Given the description of an element on the screen output the (x, y) to click on. 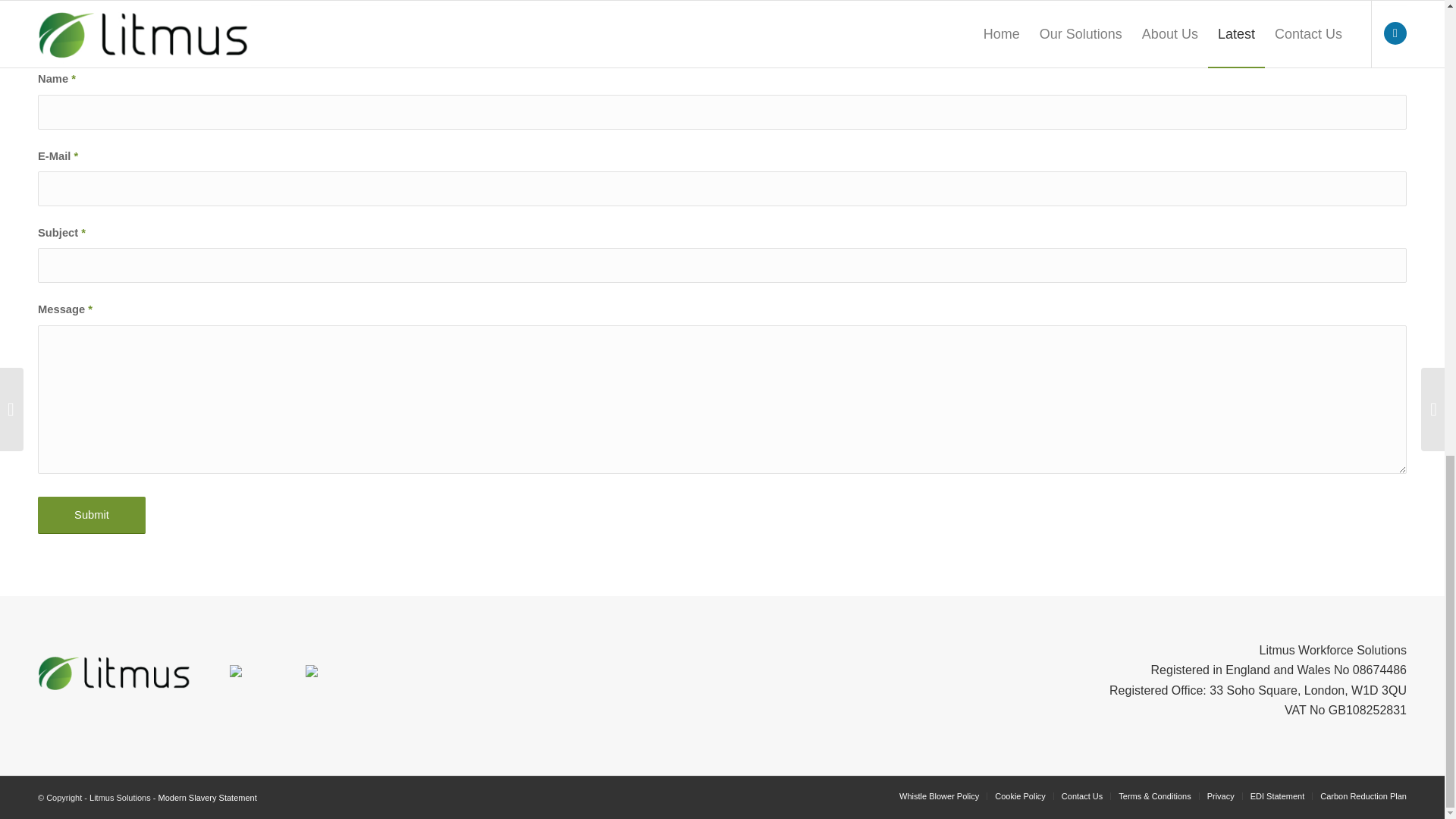
- Modern Slavery Statement (204, 797)
Contact Us (1081, 795)
EDI Statement (1277, 795)
Privacy (1220, 795)
Whistle Blower Policy (938, 795)
Cookie Policy (1019, 795)
Submit (91, 514)
Submit (91, 514)
Carbon Reduction Plan (1363, 795)
